Given the description of an element on the screen output the (x, y) to click on. 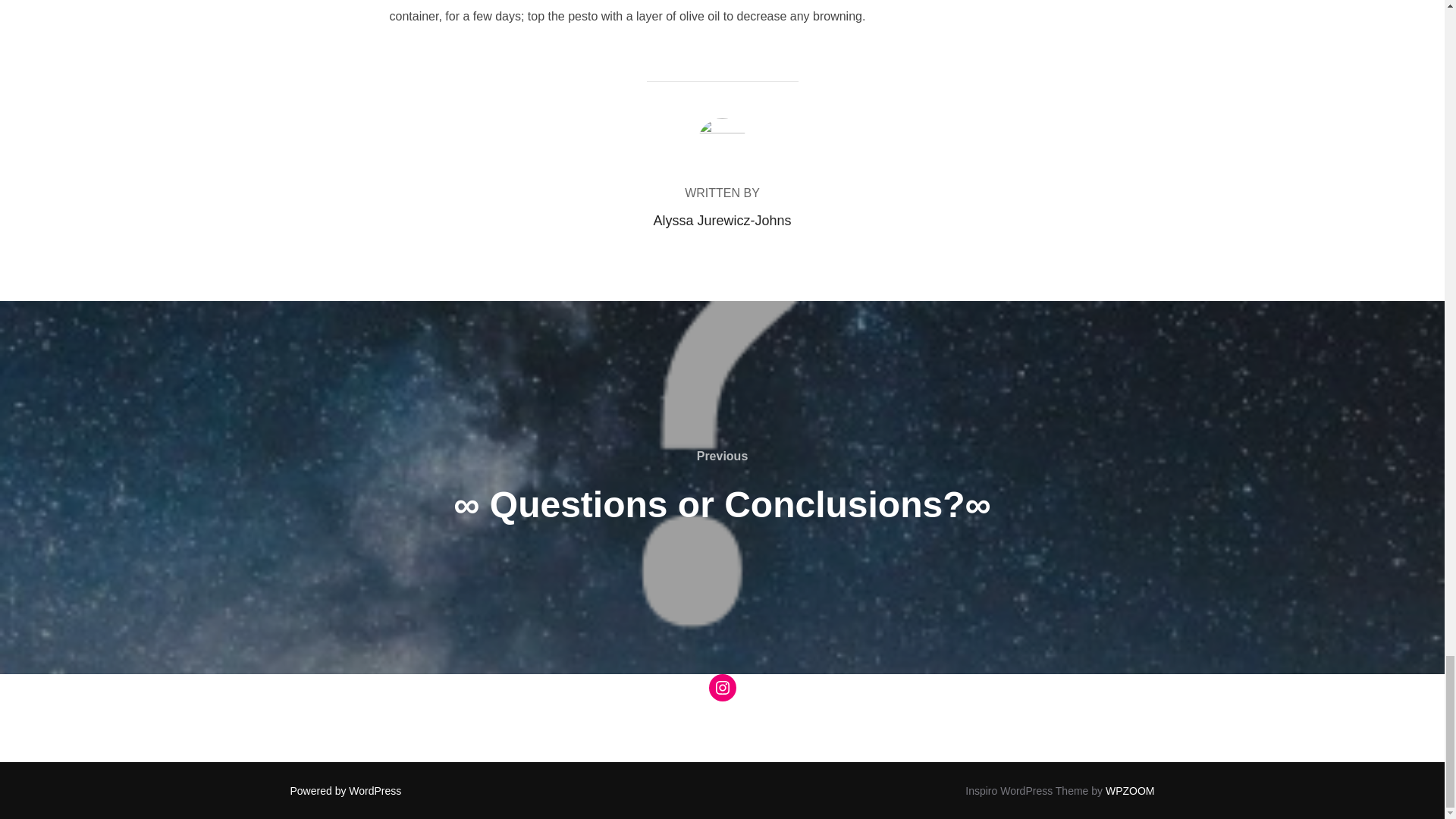
Instagram (721, 687)
Alyssa Jurewicz-Johns (721, 220)
Powered by WordPress (345, 790)
Posts by Alyssa Jurewicz-Johns (721, 220)
WPZOOM (1129, 790)
